Given the description of an element on the screen output the (x, y) to click on. 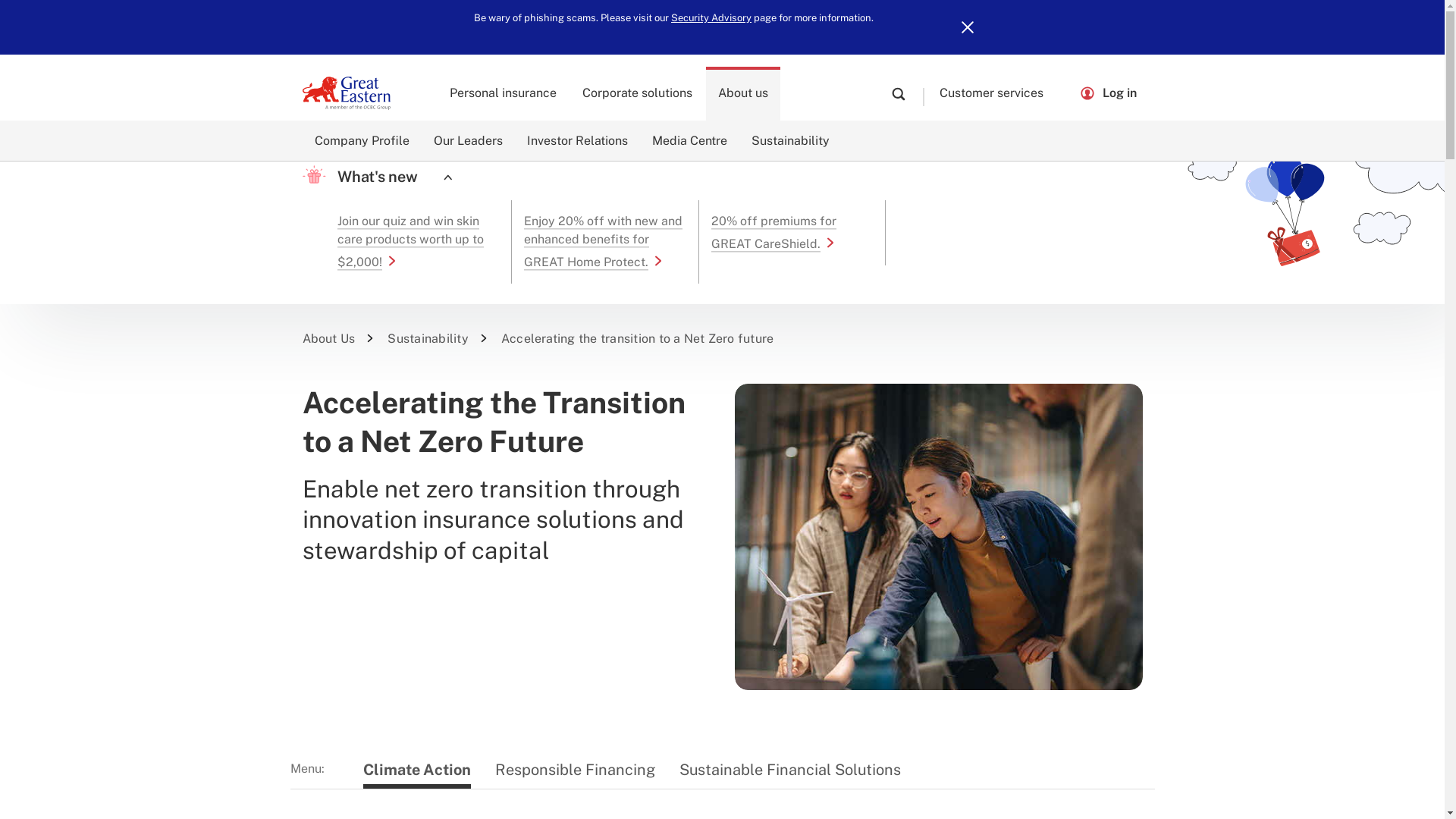
Media Centre (689, 139)
Personal insurance (503, 93)
Personal insurance (503, 93)
Sustainability (789, 139)
Company Profile (360, 139)
Investor Relations (576, 139)
Security Advisory (711, 17)
Corporate solutions (637, 93)
About us (743, 93)
Our Leaders (468, 139)
